Given the description of an element on the screen output the (x, y) to click on. 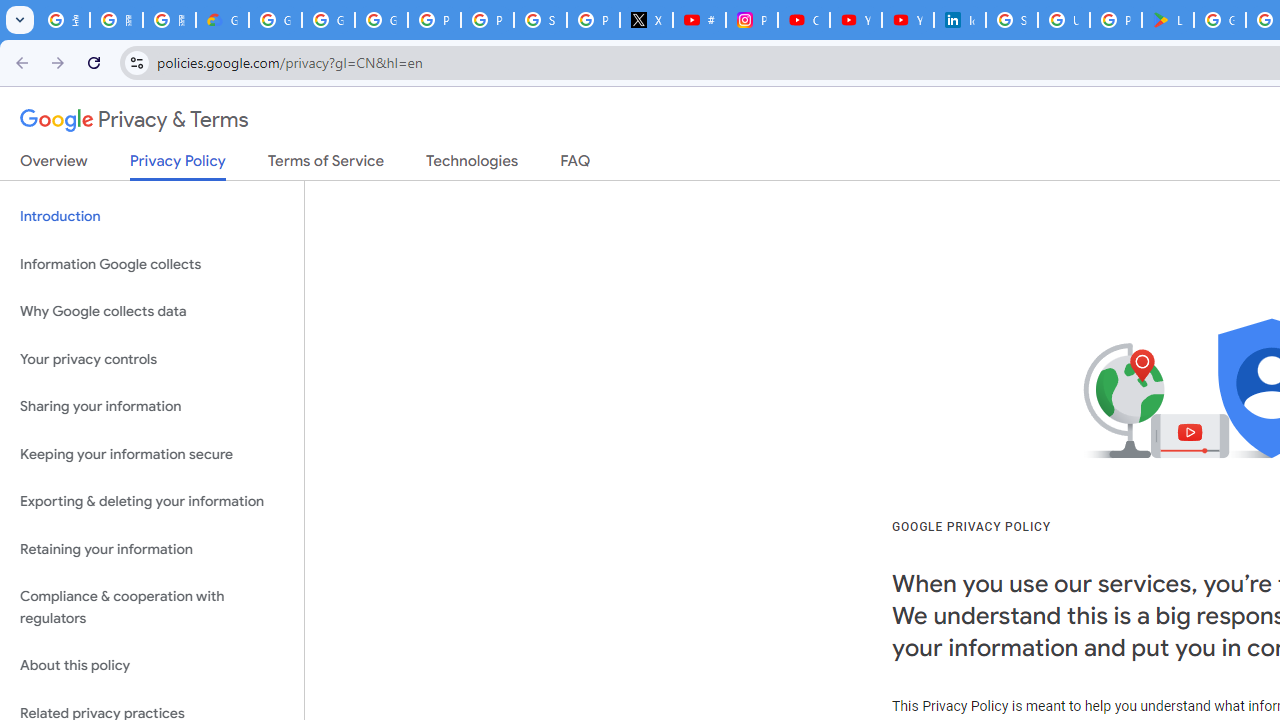
X (646, 20)
About this policy (152, 666)
Compliance & cooperation with regulators (152, 607)
#nbabasketballhighlights - YouTube (699, 20)
Information Google collects (152, 263)
Sign in - Google Accounts (1011, 20)
